Given the description of an element on the screen output the (x, y) to click on. 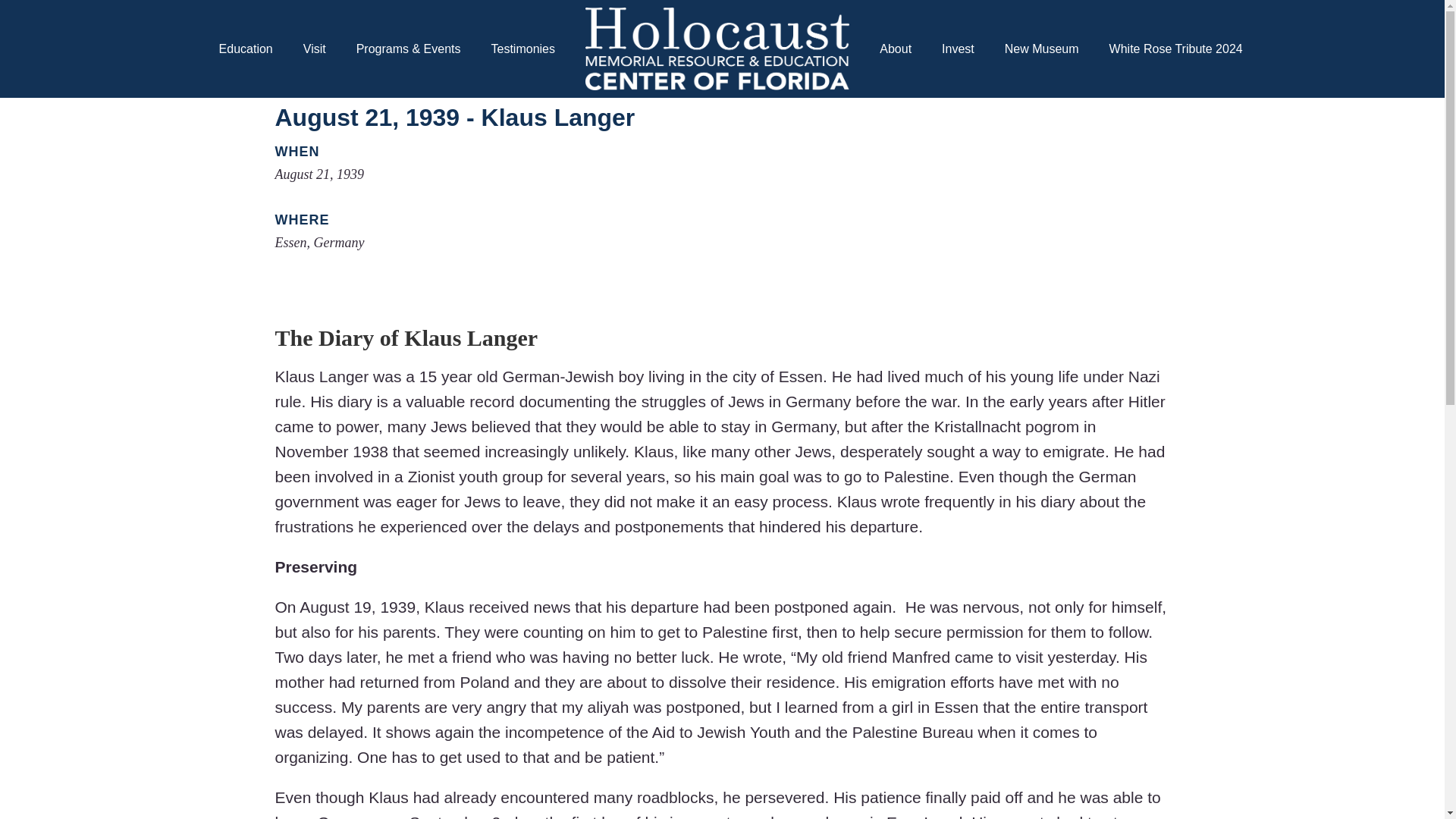
Testimonies (523, 48)
Visit (314, 48)
Education (245, 48)
